Given the description of an element on the screen output the (x, y) to click on. 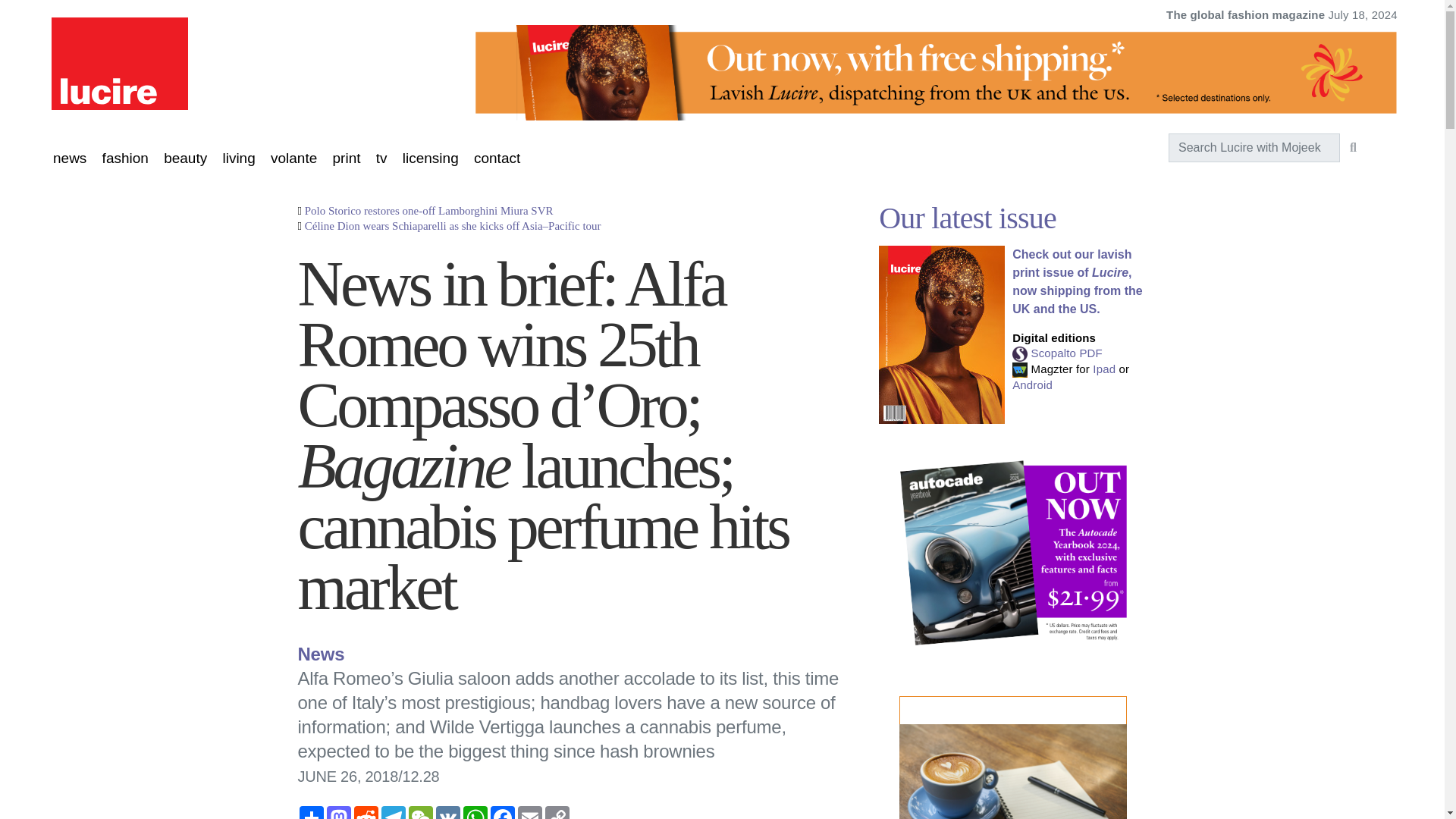
WhatsApp (474, 812)
Copy Link (556, 812)
news (68, 157)
Mastodon (338, 812)
Facebook (501, 812)
Polo Storico restores one-off Lamborghini Miura SVR (428, 210)
living (238, 157)
Telegram (392, 812)
fashion (124, 157)
VK (447, 812)
Available now: the Autocade Yearbook 2024 (1012, 552)
volante (293, 157)
print (347, 157)
contact (496, 157)
Reddit (365, 812)
